Given the description of an element on the screen output the (x, y) to click on. 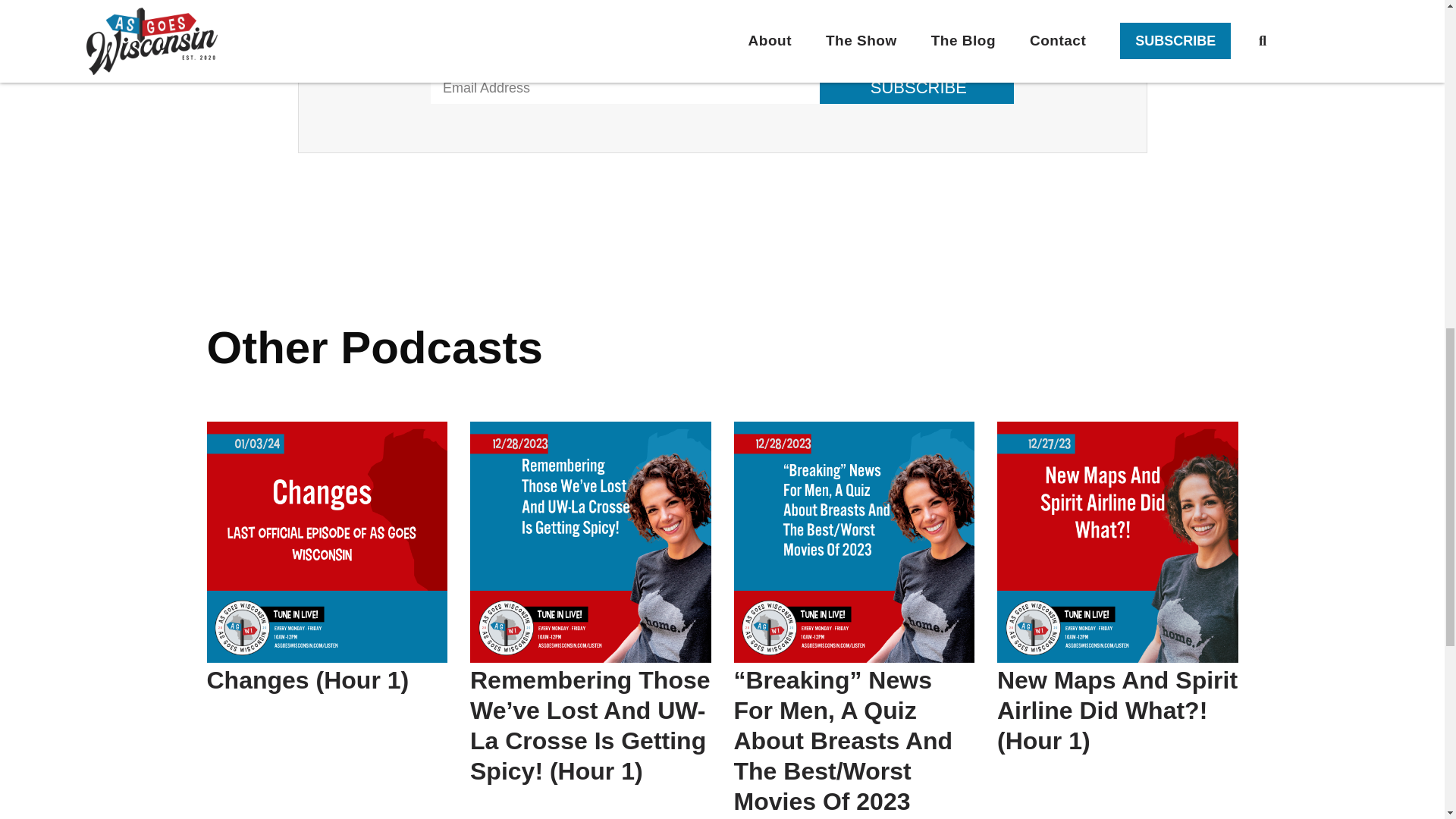
SUBSCRIBE (916, 88)
